Given the description of an element on the screen output the (x, y) to click on. 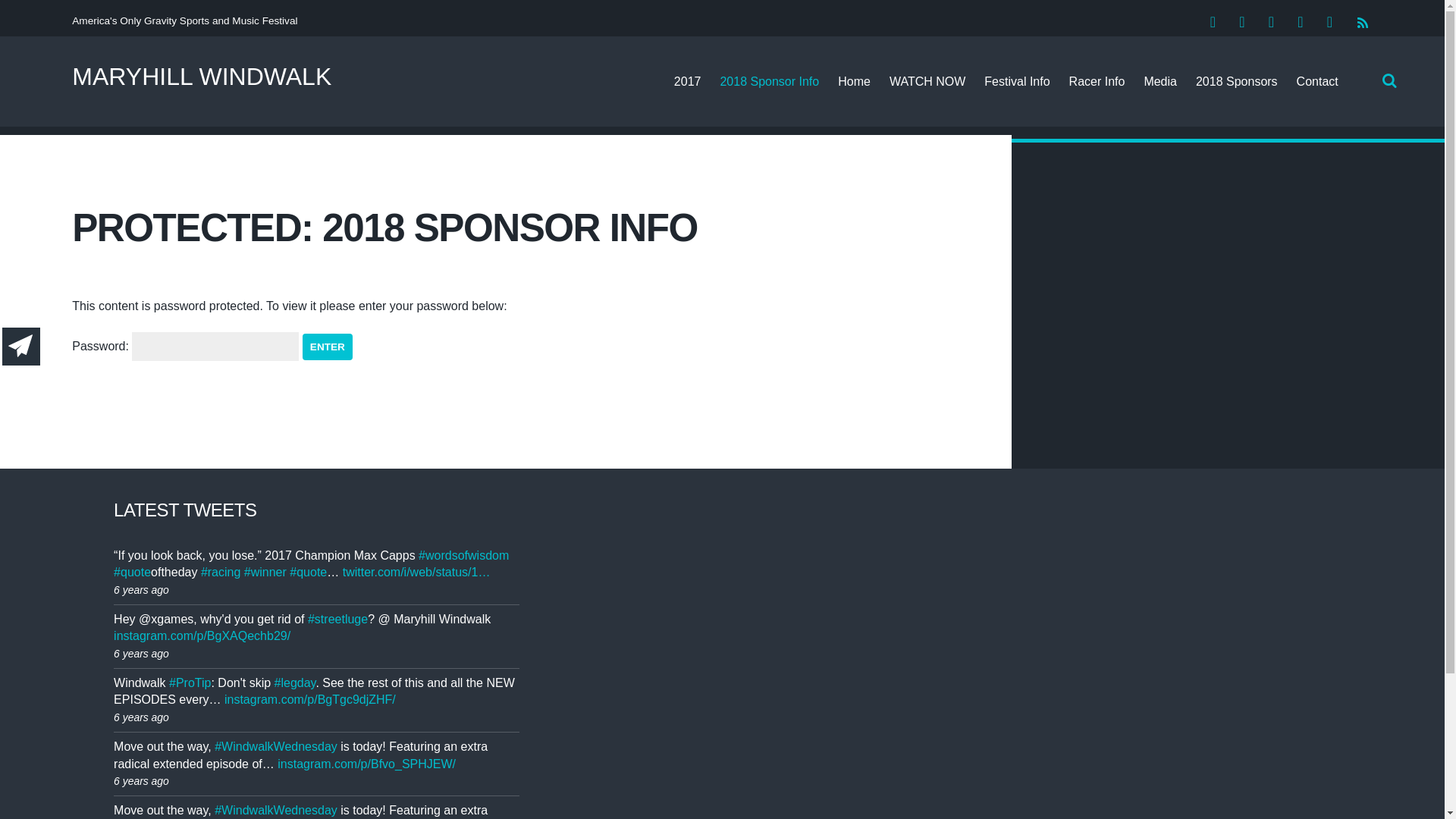
Maryhill Windwalk (201, 76)
ProTip (189, 682)
winner (265, 571)
Festival Info (1016, 81)
Search (1385, 80)
Enter (327, 346)
racing (220, 571)
Enter (327, 346)
2018 Sponsors (1236, 81)
quote (132, 571)
